Given the description of an element on the screen output the (x, y) to click on. 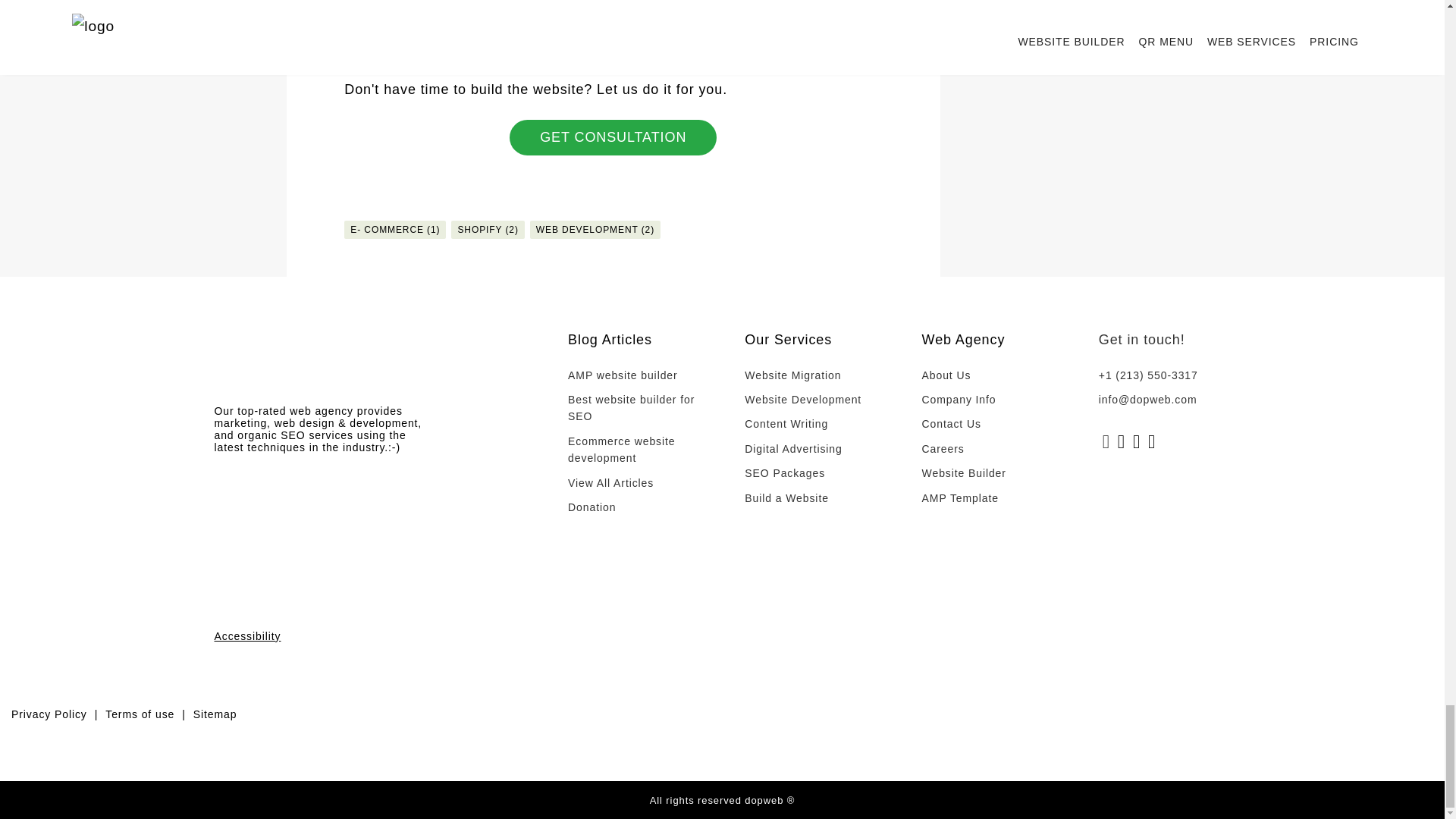
Best website builder for SEO (632, 408)
AMP website builder (632, 375)
GET CONSULTATION (612, 137)
Accessibility (324, 635)
